Given the description of an element on the screen output the (x, y) to click on. 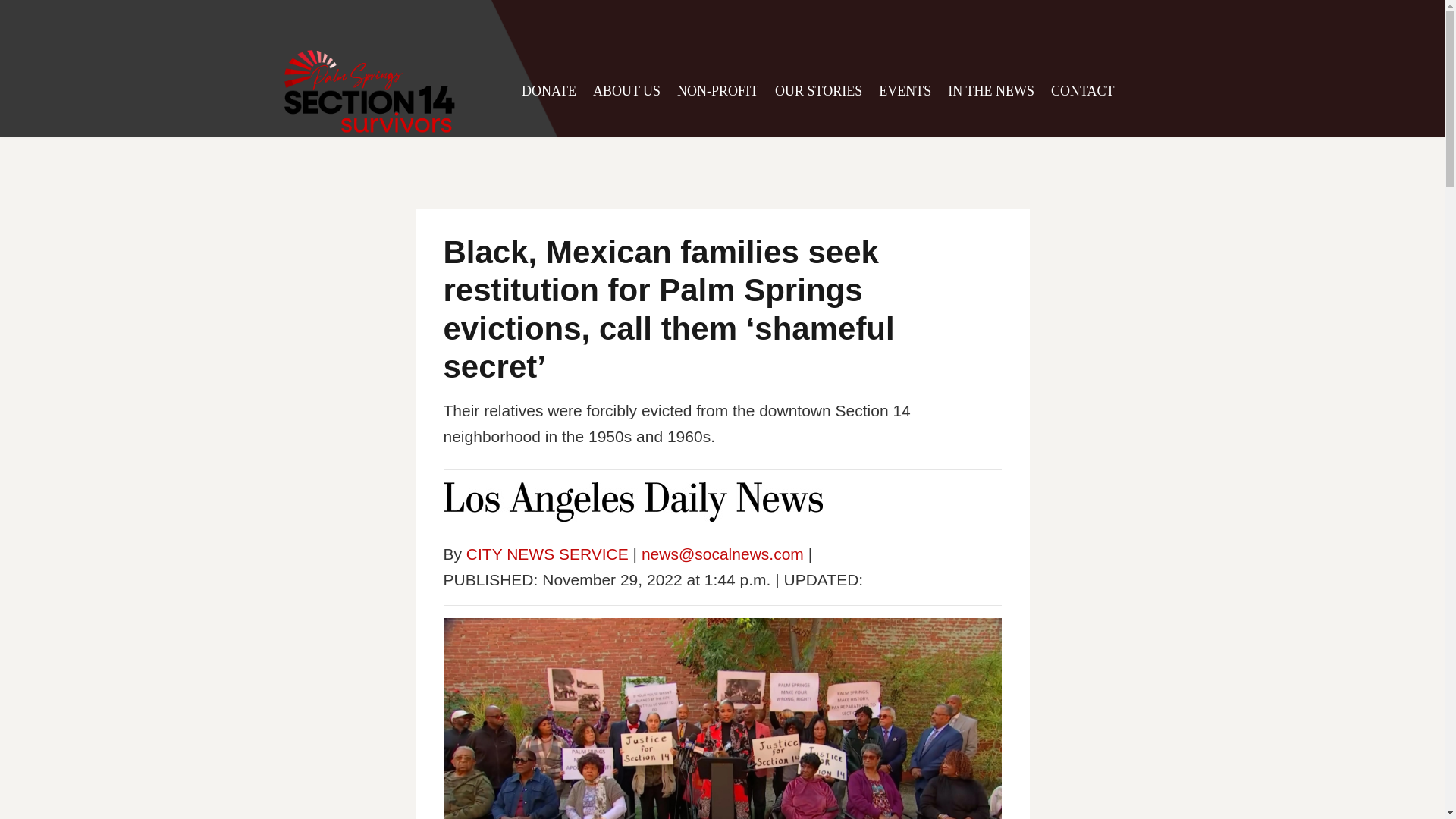
OUR STORIES (817, 90)
ABOUT US (626, 90)
Palm Springs Section 14 Survivors (369, 90)
NON-PROFIT (717, 90)
DONATE (548, 90)
CONTACT (1083, 90)
IN THE NEWS (990, 90)
Posts by City News Service (546, 553)
CITY NEWS SERVICE (546, 553)
